Given the description of an element on the screen output the (x, y) to click on. 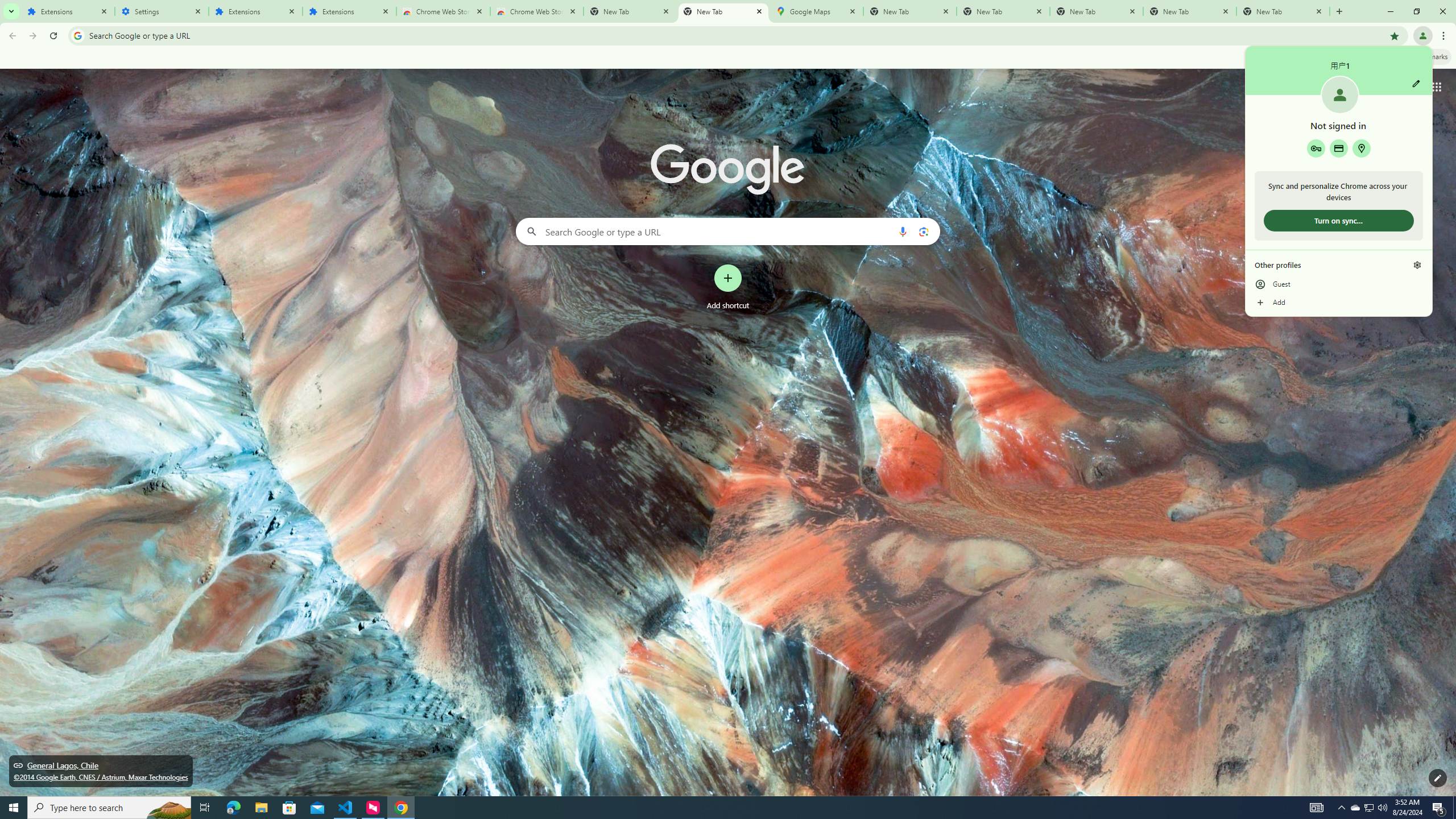
Search highlights icon opens search home window (167, 807)
Add shortcut (727, 287)
Search icon (77, 35)
Customize profile (1415, 83)
AutomationID: 4105 (1316, 807)
Search by voice (902, 230)
Settings (161, 11)
Customize this page (1437, 778)
Payment methods (1338, 148)
Google Chrome - 1 running window (400, 807)
